Given the description of an element on the screen output the (x, y) to click on. 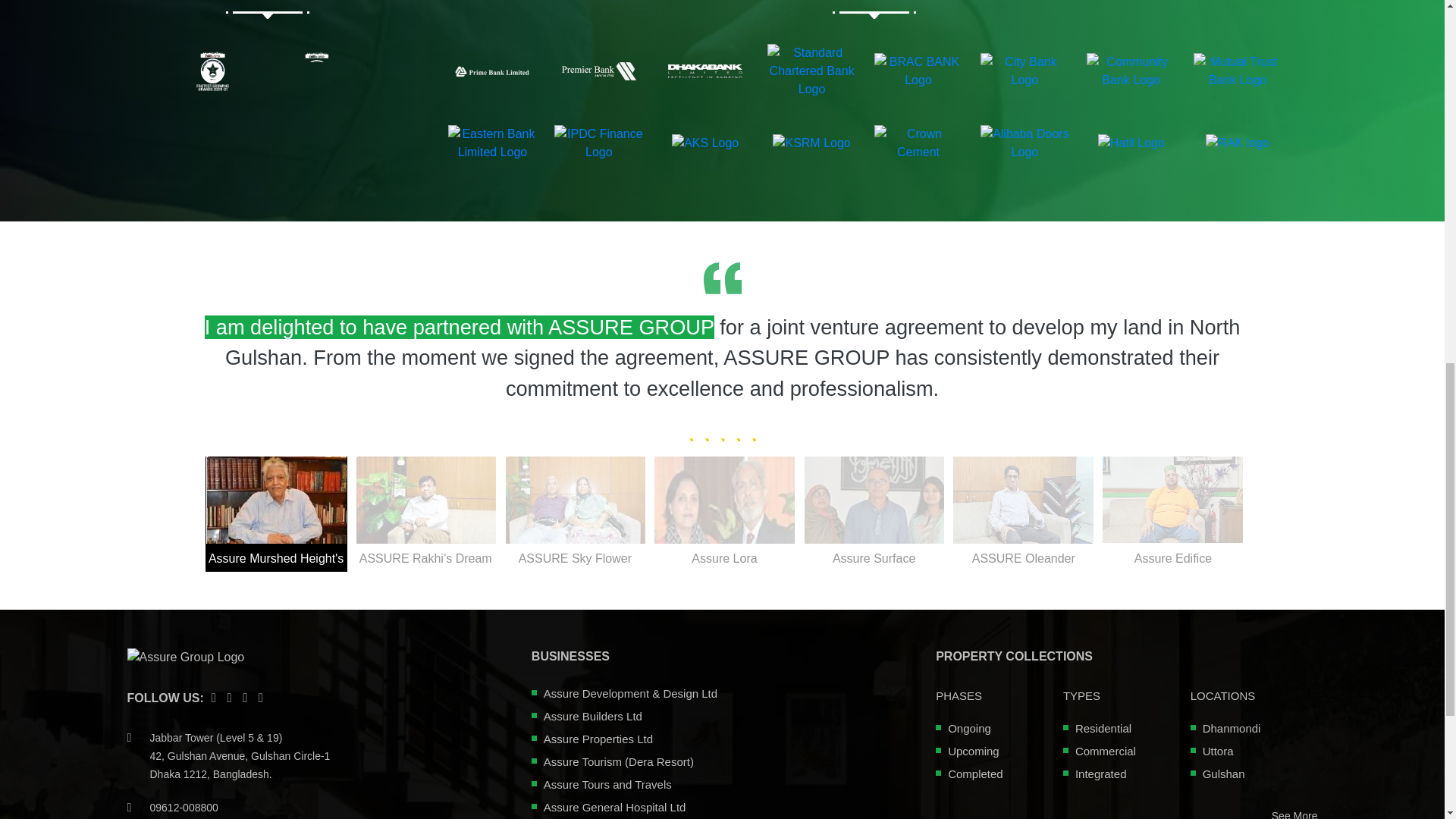
Fastest-Growing Brands 2020 - 21 (212, 70)
Standard Chartered Bank (811, 71)
Alibaba Doors (1023, 143)
City Bank Logo (1023, 71)
Community Bank Bangladesh Limited (1130, 71)
Fastest Growing Business Leader of Bangladesh 2020-21 (315, 70)
IPDC Finance (598, 143)
Crown Cement (917, 143)
AKS (704, 143)
Mutual Trust Bank (1237, 71)
BRAC Bank Limited (917, 71)
Hatil (1130, 143)
KSRM (811, 143)
Eastern Bank Limited (492, 143)
